Given the description of an element on the screen output the (x, y) to click on. 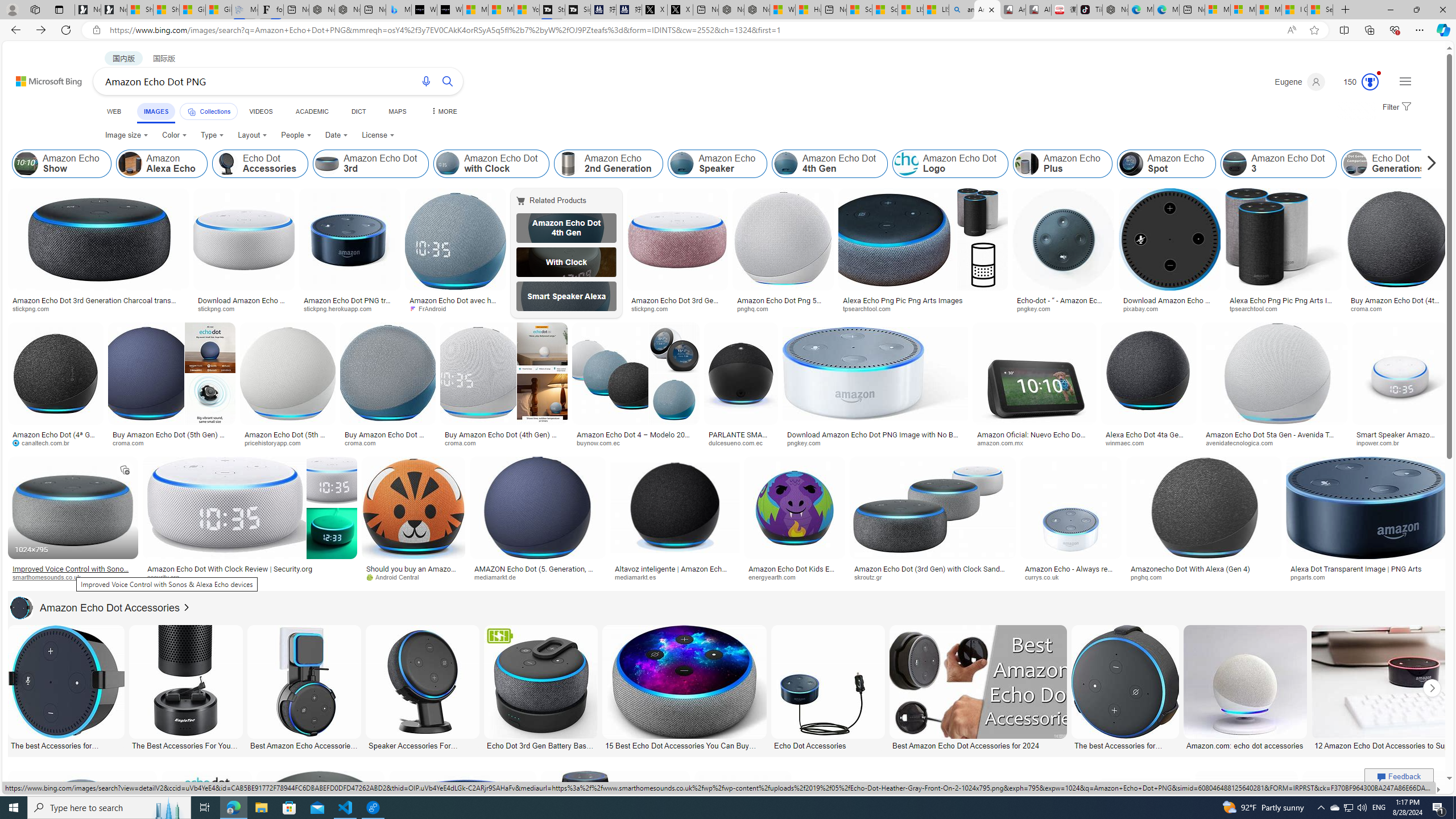
Newsletter Sign Up (114, 9)
Class: b_pri_nav_svg (191, 112)
pnghq.com (1203, 576)
mediamarkt.es (674, 576)
Amazon Echo Dot Png 542 Download (783, 303)
winmaec.com (1148, 442)
VIDEOS (260, 111)
